Given the description of an element on the screen output the (x, y) to click on. 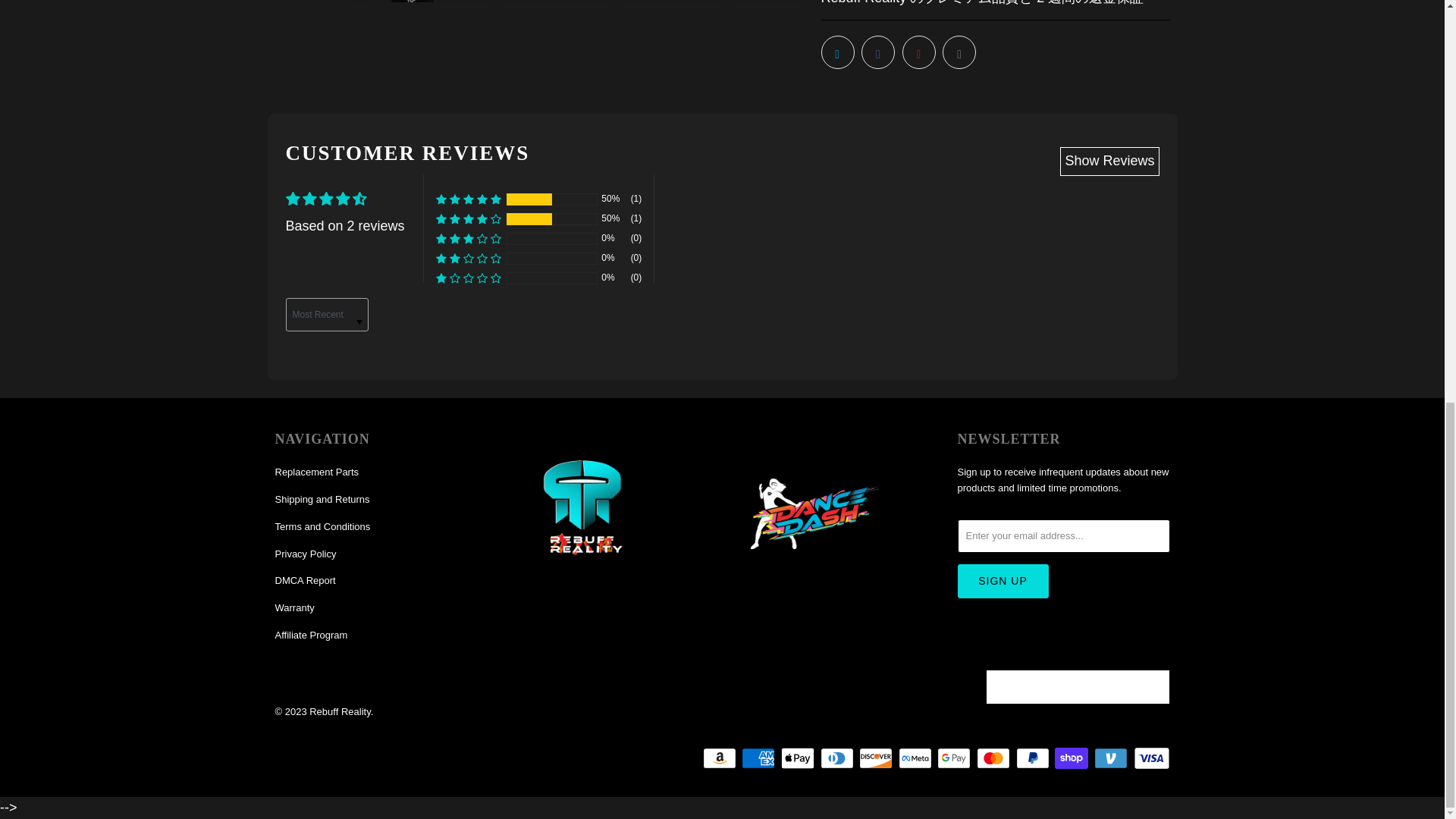
PayPal (1034, 757)
Sign Up (1002, 581)
Share this on Facebook (878, 52)
Discover (877, 757)
Mastercard (994, 757)
Venmo (1112, 757)
American Express (759, 757)
Amazon (721, 757)
Share this on Twitter (837, 52)
Visa (1150, 757)
Share this on Pinterest (919, 52)
Email this to a friend (958, 52)
Shop Pay (1072, 757)
Apple Pay (798, 757)
Google Pay (955, 757)
